Given the description of an element on the screen output the (x, y) to click on. 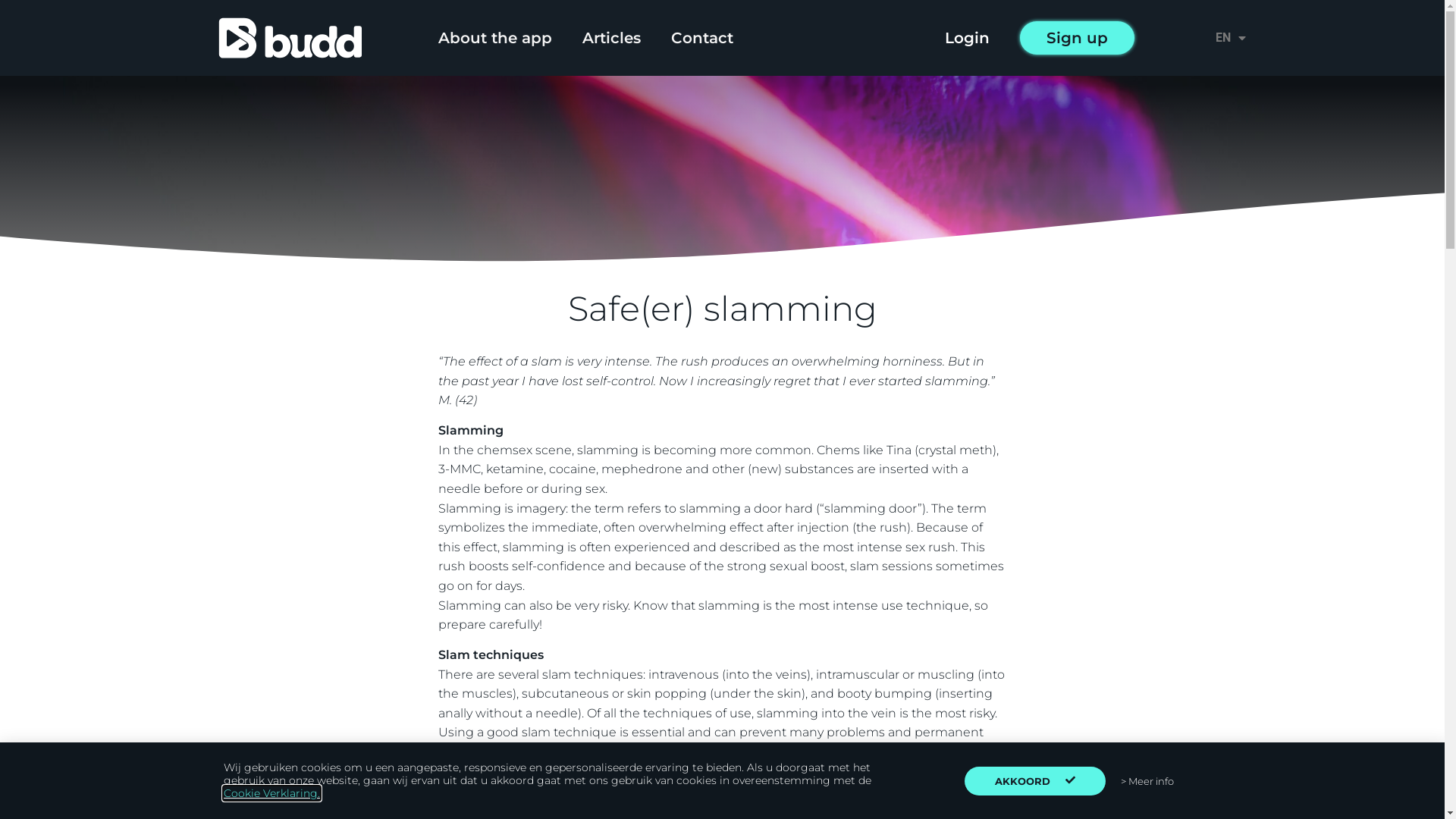
AKKOORD Element type: text (1034, 779)
About the app Element type: text (495, 37)
EN Element type: text (1226, 38)
Contact Element type: text (701, 37)
Cookie Verklaring. Element type: text (271, 793)
Sign up Element type: text (1076, 37)
Login Element type: text (966, 37)
> Meer info Element type: text (1146, 781)
Articles Element type: text (611, 37)
